Given the description of an element on the screen output the (x, y) to click on. 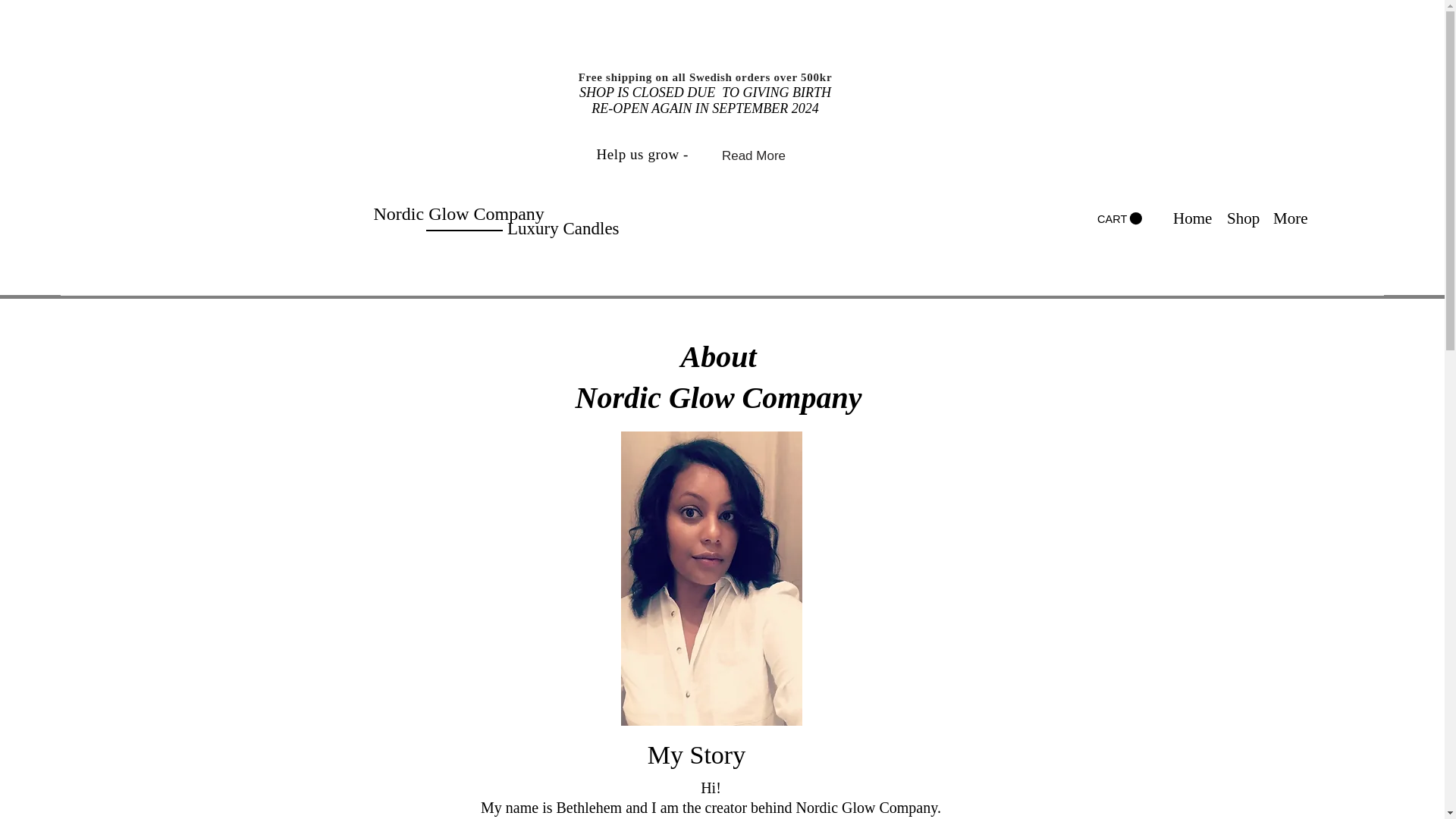
Read More (753, 155)
CART (1119, 218)
rs over 500kr (795, 77)
Home (1193, 218)
Free shipping on all Swedish orde (669, 77)
Shop (1242, 218)
CART (1119, 218)
